Given the description of an element on the screen output the (x, y) to click on. 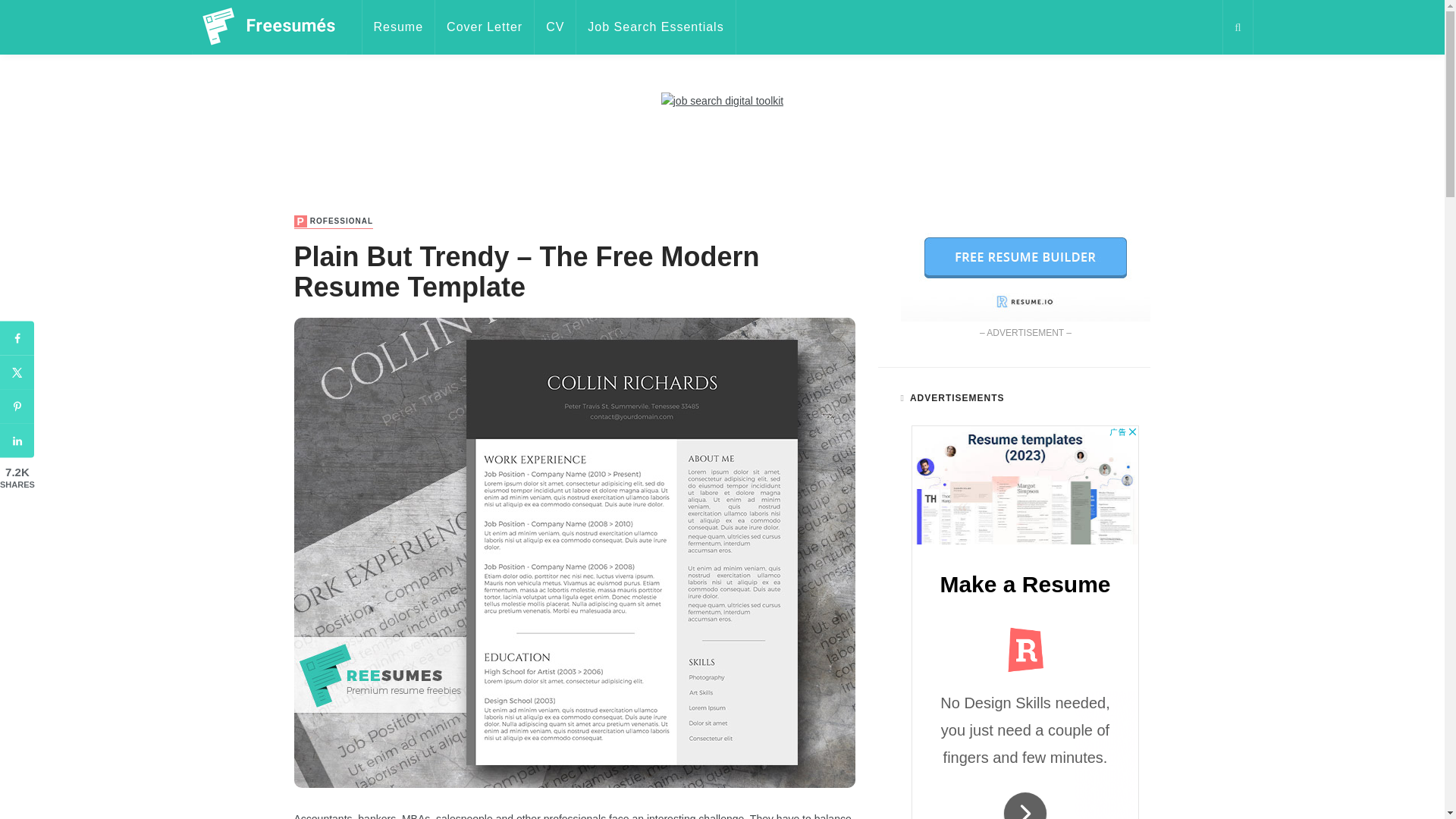
Advertisement (721, 144)
Resume (398, 27)
Freesumes.com (268, 26)
Cover Letter (484, 27)
Professional (334, 221)
